Given the description of an element on the screen output the (x, y) to click on. 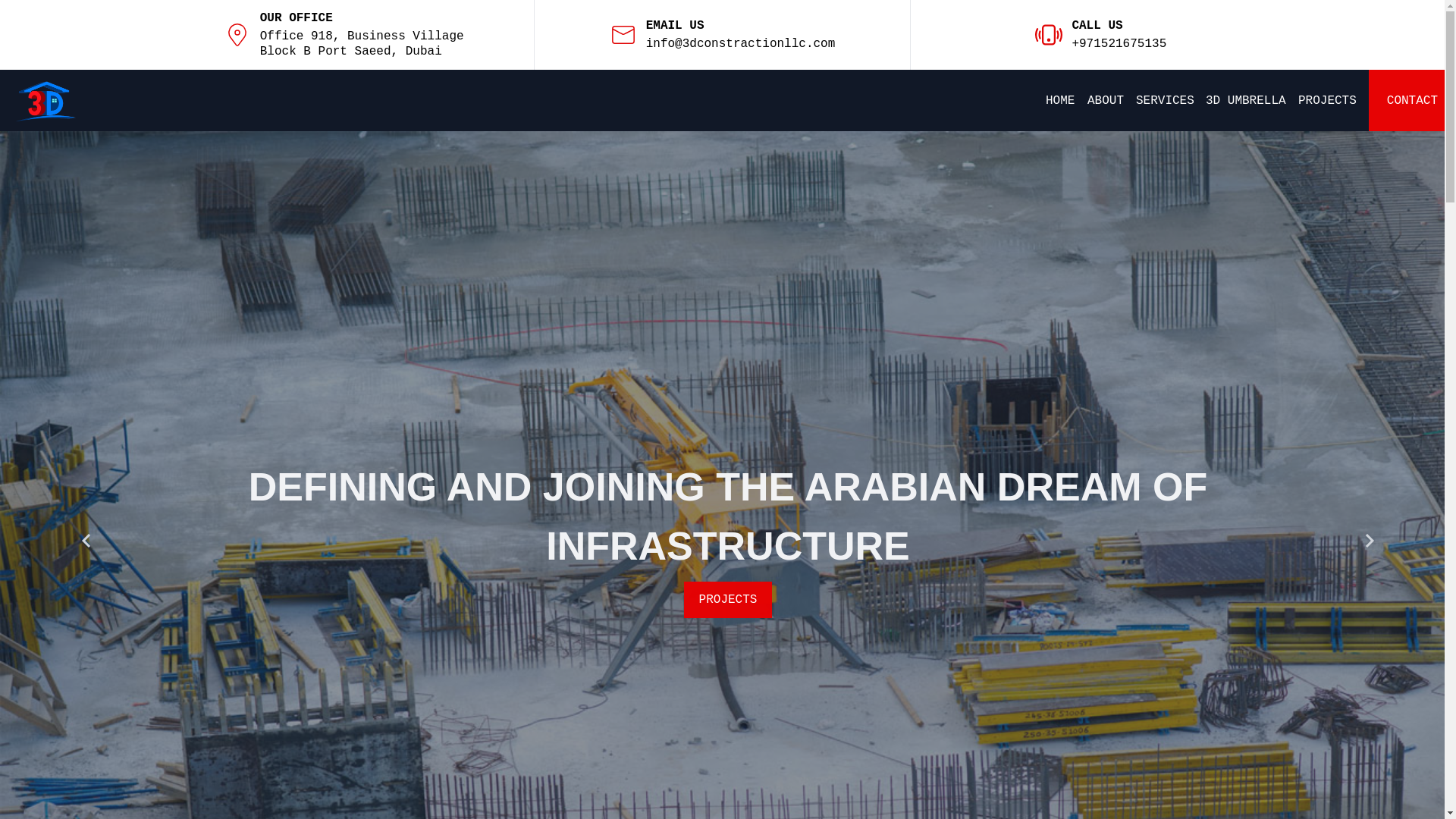
SERVICES Element type: text (1164, 100)
+971521675135 Element type: text (1118, 43)
3D UMBRELLA Element type: text (1245, 100)
PROJECTS Element type: text (1327, 100)
3D UMBRELLA Element type: text (727, 570)
info@3dconstractionllc.com Element type: text (740, 43)
Office 918, Business Village
Block B Port Saeed, Dubai Element type: text (362, 43)
ABOUT Element type: text (1105, 100)
HOME Element type: text (1059, 100)
